Given the description of an element on the screen output the (x, y) to click on. 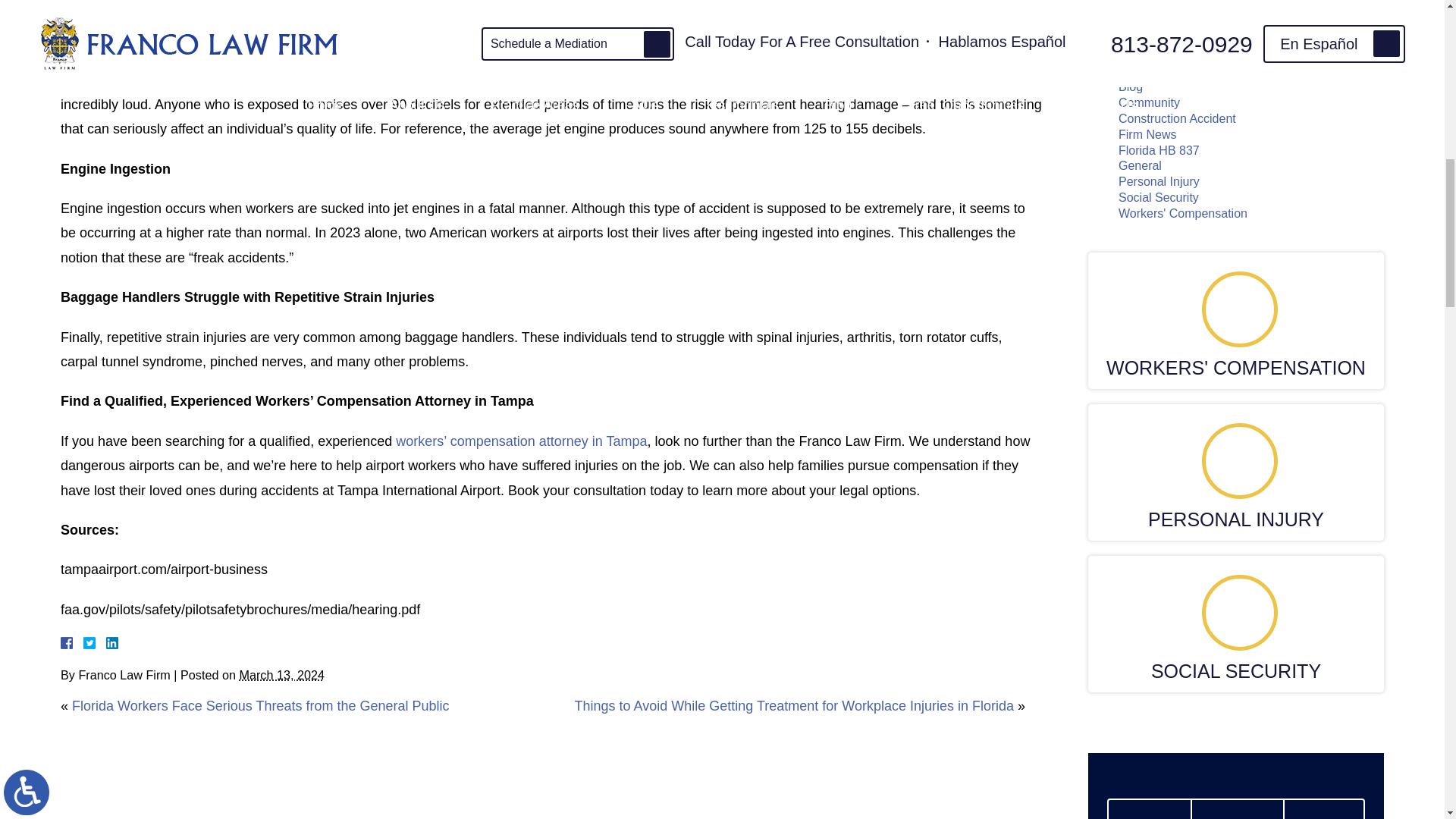
Twitter (95, 643)
Facebook (85, 643)
LinkedIn (106, 643)
2024-03-13T03:00:37-0700 (280, 674)
